Given the description of an element on the screen output the (x, y) to click on. 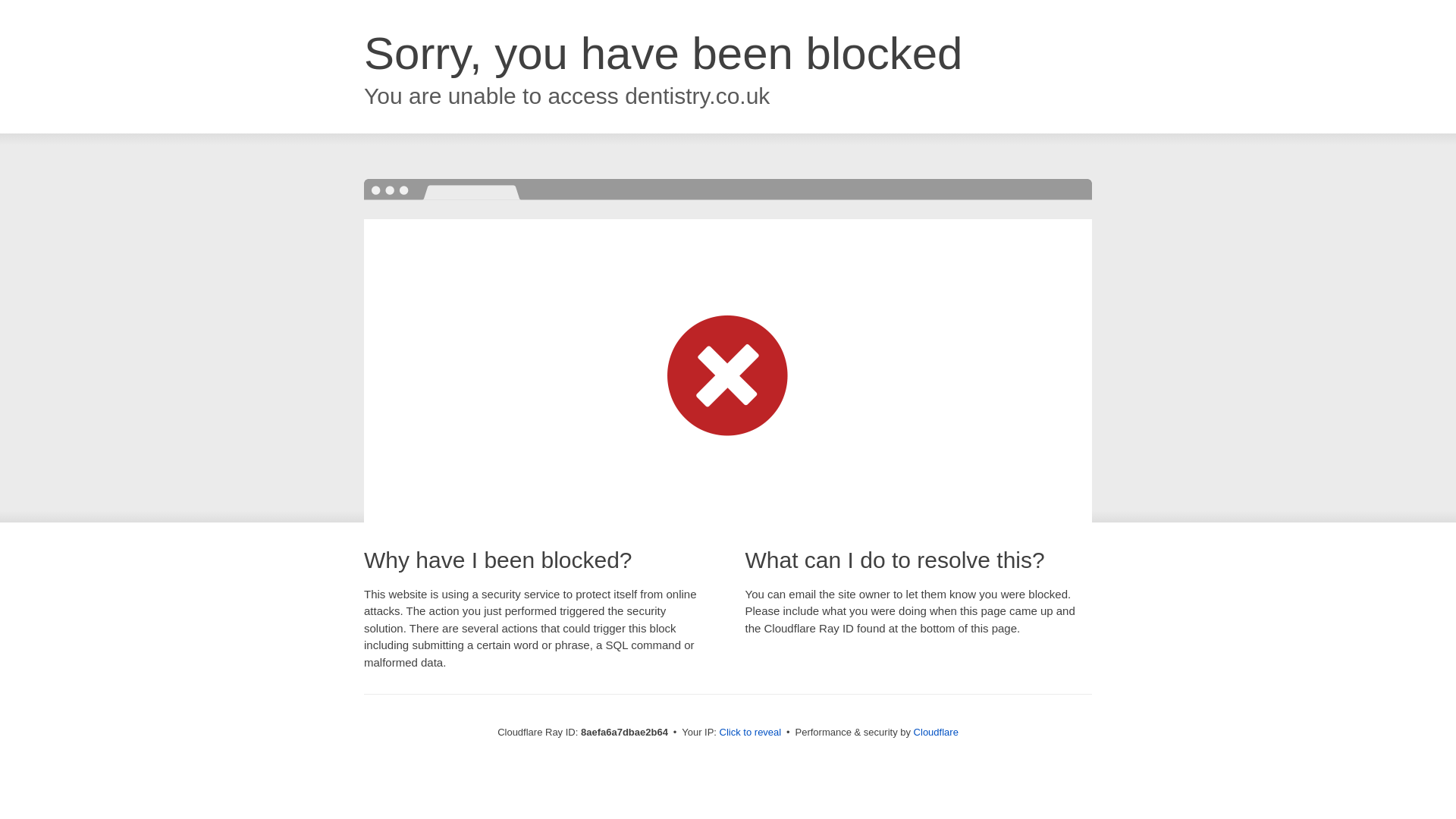
Click to reveal (750, 732)
Cloudflare (936, 731)
